Given the description of an element on the screen output the (x, y) to click on. 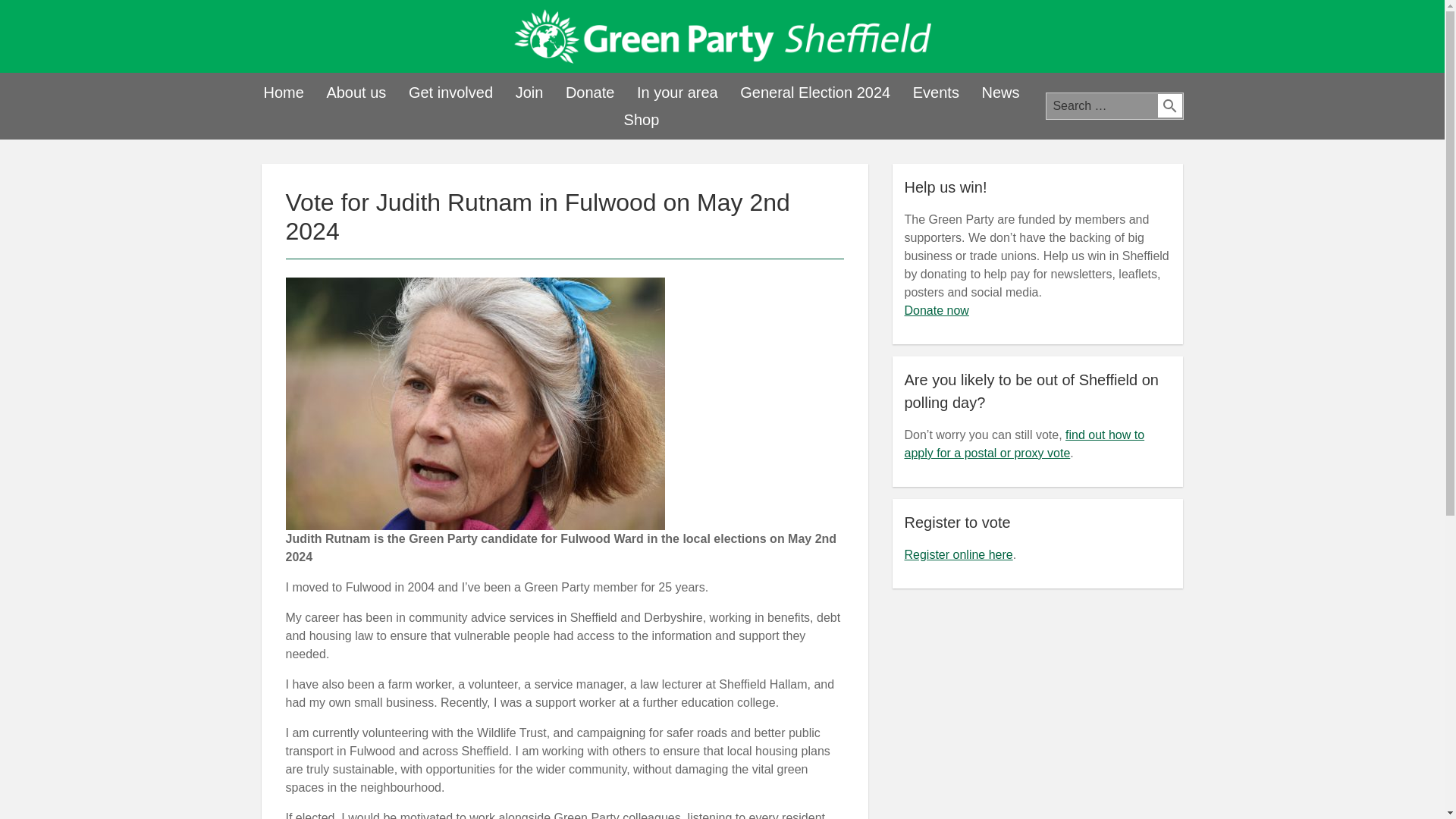
Search (1168, 105)
Donate (590, 92)
Twitter (1090, 37)
Shop (641, 119)
Search (1168, 105)
Join (529, 92)
In your area (676, 92)
About us (355, 92)
Register online here (957, 554)
Instagram (1169, 37)
News (1000, 92)
Get involved (451, 92)
Home (282, 92)
Facebook (1050, 37)
General Election 2024 (814, 92)
